Given the description of an element on the screen output the (x, y) to click on. 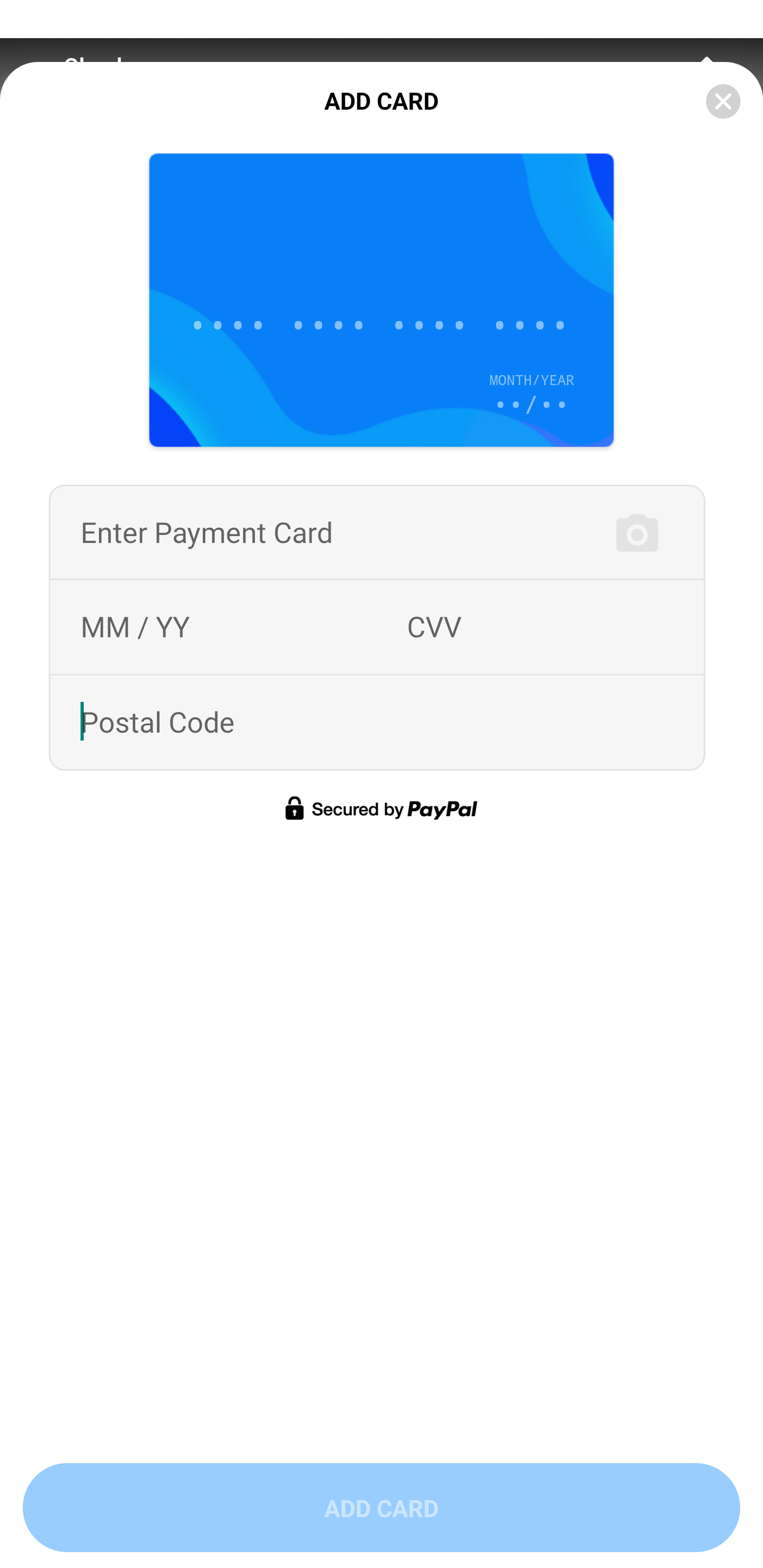
Enter Payment Card (206, 532)
MM / YY (135, 627)
CVV (433, 627)
Postal Code (157, 722)
ADD CARD (381, 1507)
